Given the description of an element on the screen output the (x, y) to click on. 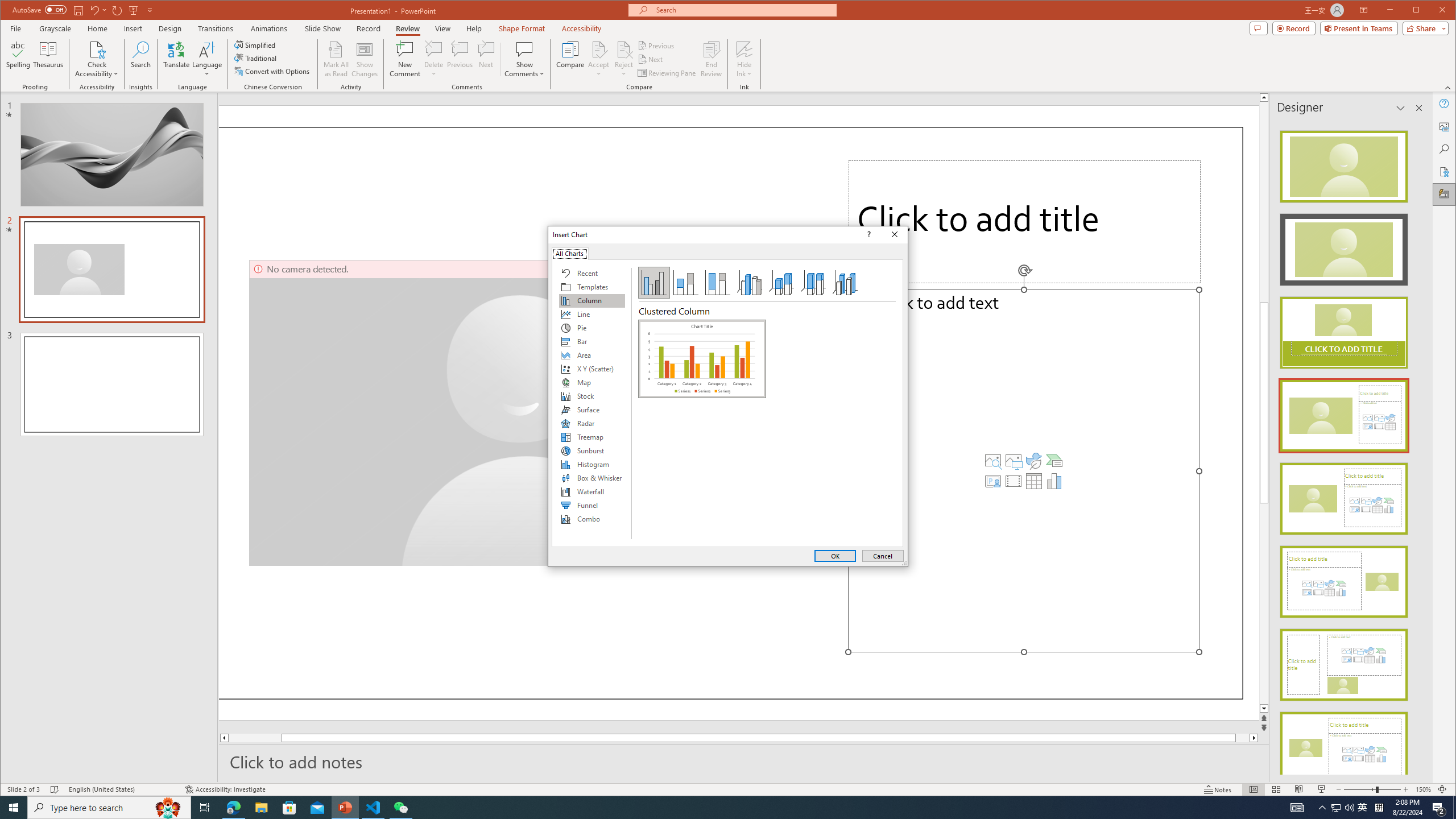
Show Changes (365, 59)
Reviewing Pane (667, 72)
Reject (623, 59)
Area (591, 354)
